Given the description of an element on the screen output the (x, y) to click on. 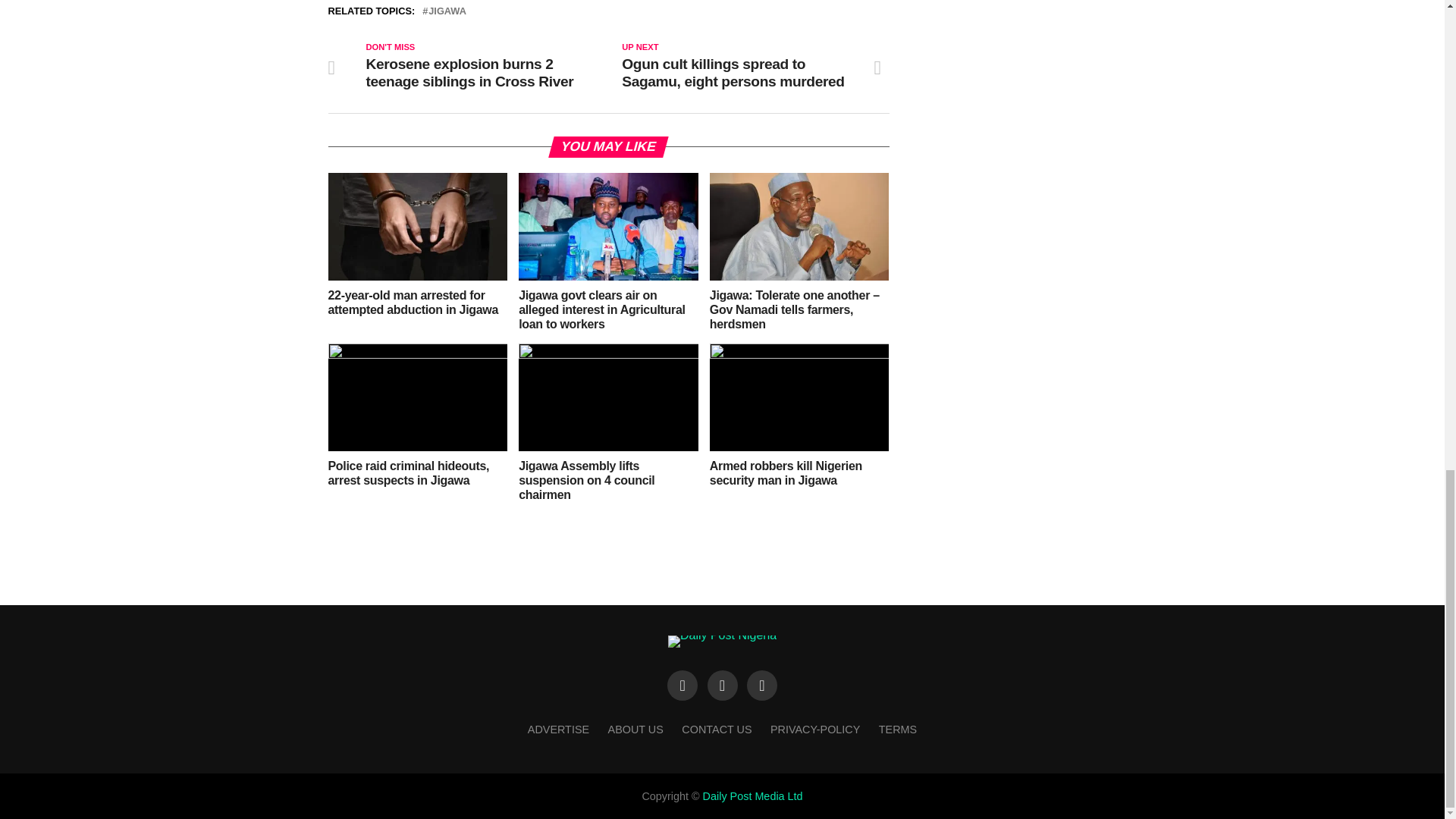
ADVERTISE (558, 729)
CONTACT US (716, 729)
JIGAWA (446, 11)
ABOUT US (635, 729)
